Given the description of an element on the screen output the (x, y) to click on. 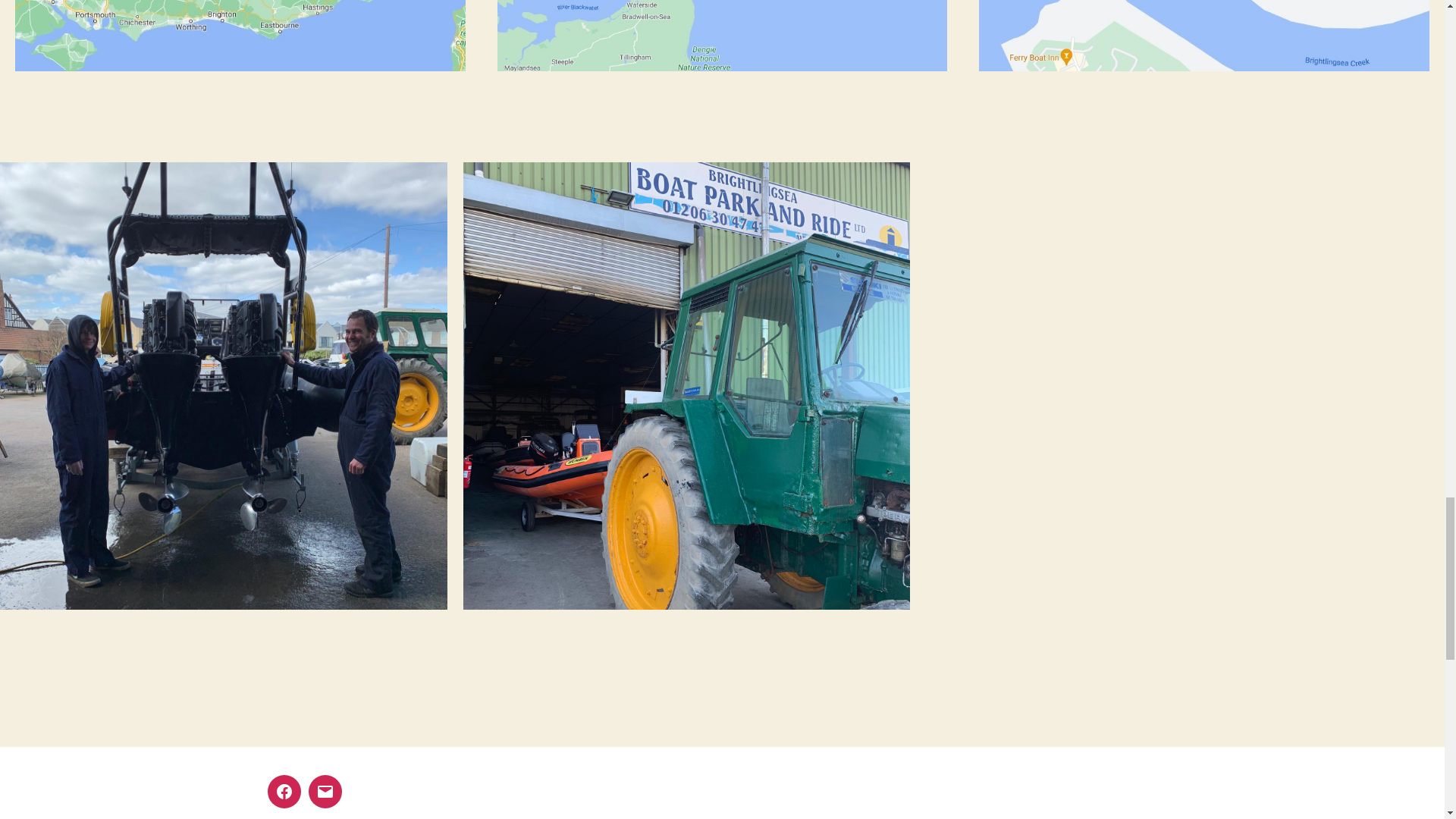
Facebook (282, 791)
Email (323, 791)
